Given the description of an element on the screen output the (x, y) to click on. 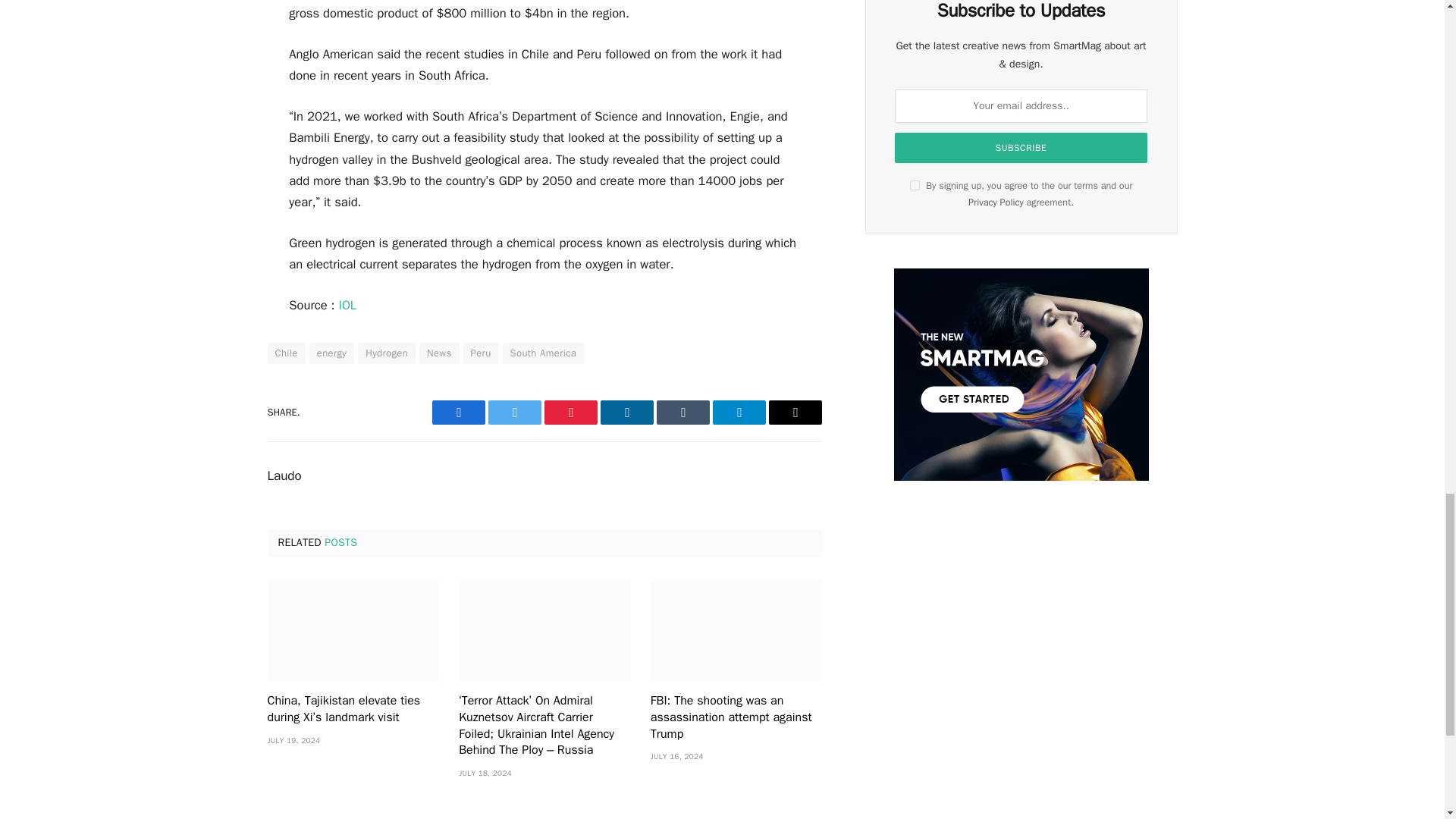
Subscribe (1021, 147)
on (915, 185)
